Given the description of an element on the screen output the (x, y) to click on. 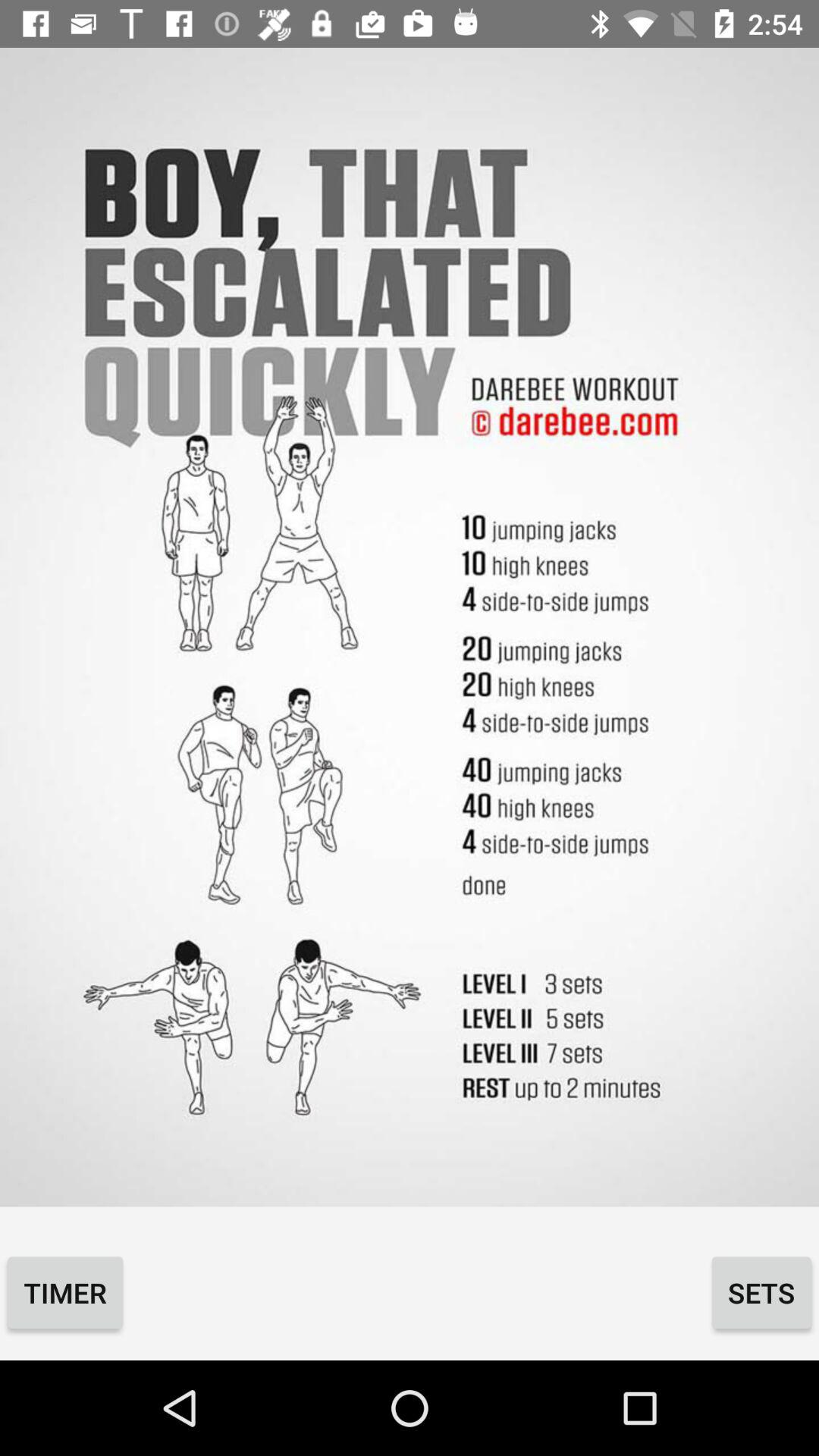
tap the timer (65, 1292)
